Given the description of an element on the screen output the (x, y) to click on. 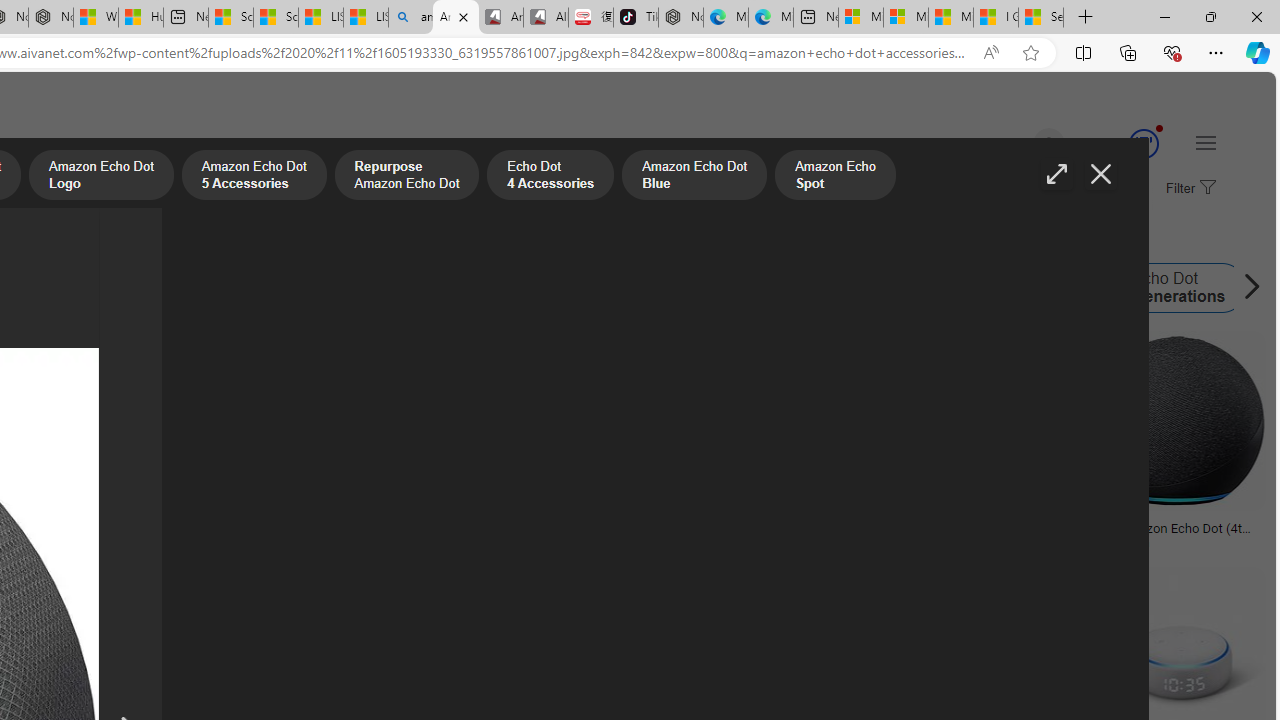
Class: outer-circle-animation (1143, 143)
Full screen (1055, 173)
Amazon Echo Dot 4th Gen (179, 287)
Image result for Amazon Echo Dot PNG (1175, 421)
Amazon Echo Dot Logo (314, 287)
Settings and quick links (1205, 142)
Echo Dot Generations (1162, 287)
Echo Dot 4 Accessories (550, 177)
